Given the description of an element on the screen output the (x, y) to click on. 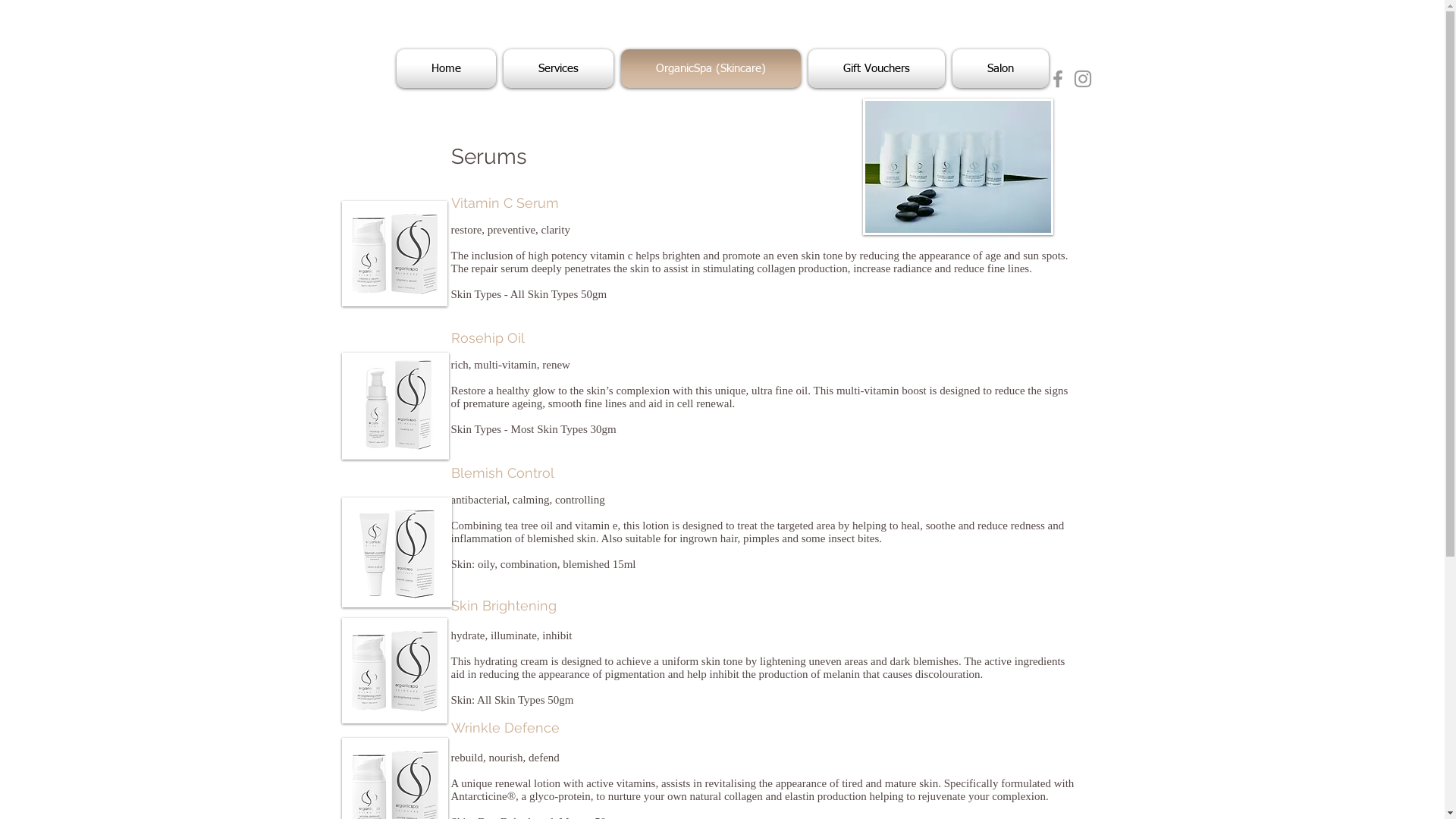
Gift Vouchers Element type: text (875, 68)
OrganicSpa (Skincare) Element type: text (710, 68)
Salon Element type: text (997, 68)
Services Element type: text (557, 68)
Home Element type: text (446, 68)
